Given the description of an element on the screen output the (x, y) to click on. 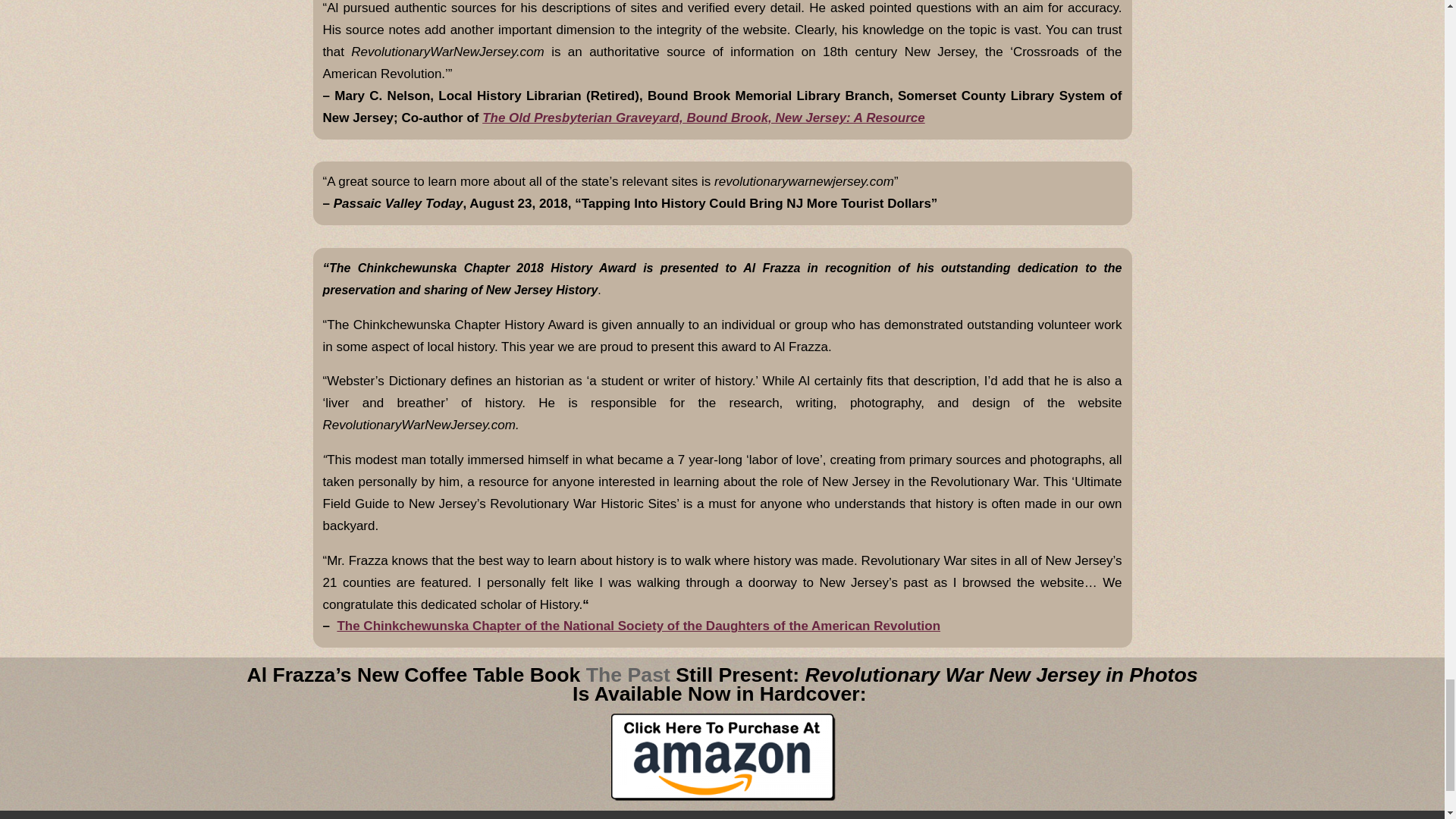
Purchase The Past Still Present at Amazon (721, 755)
